Given the description of an element on the screen output the (x, y) to click on. 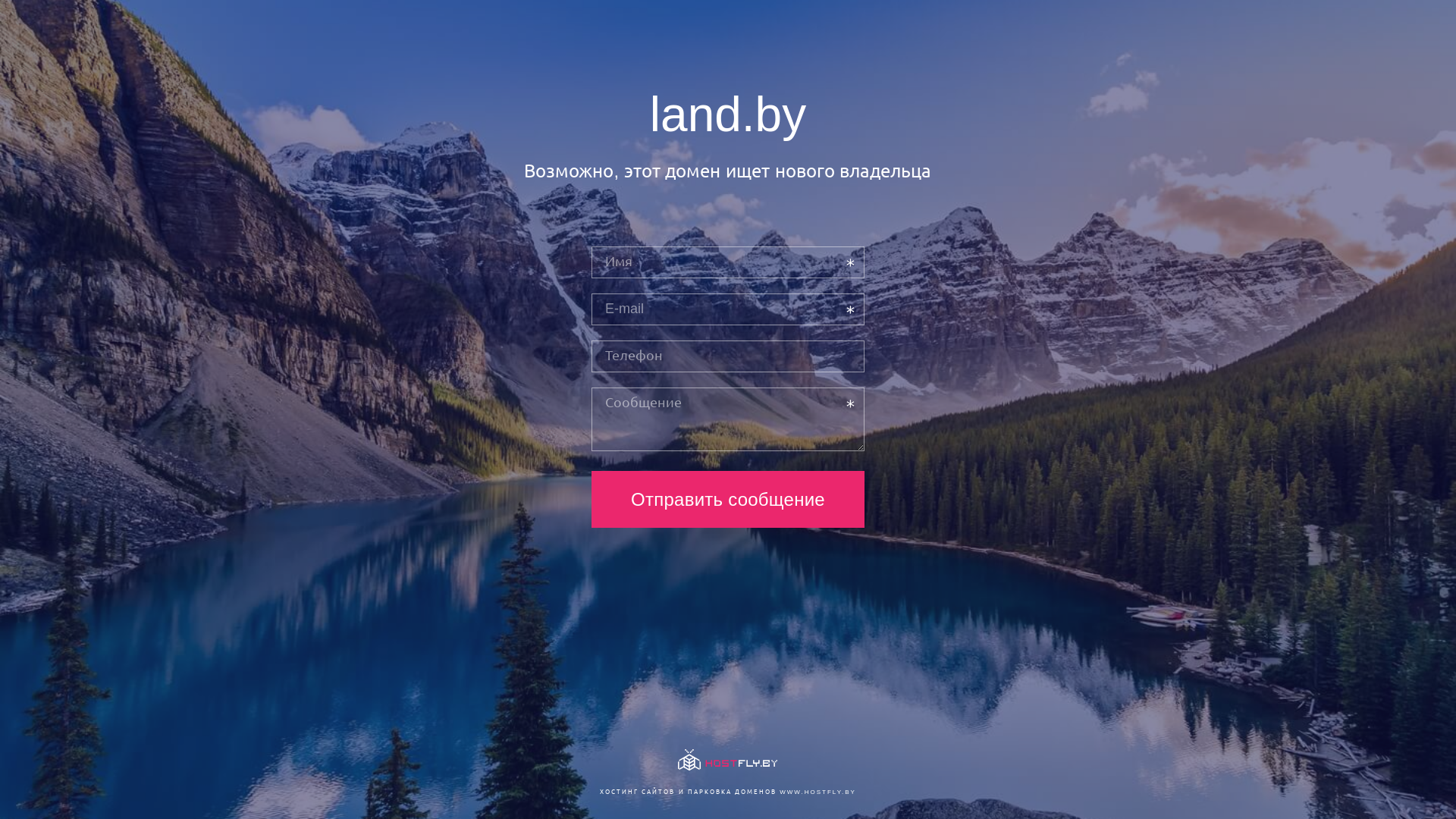
WWW.HOSTFLY.BY Element type: text (817, 791)
